Given the description of an element on the screen output the (x, y) to click on. 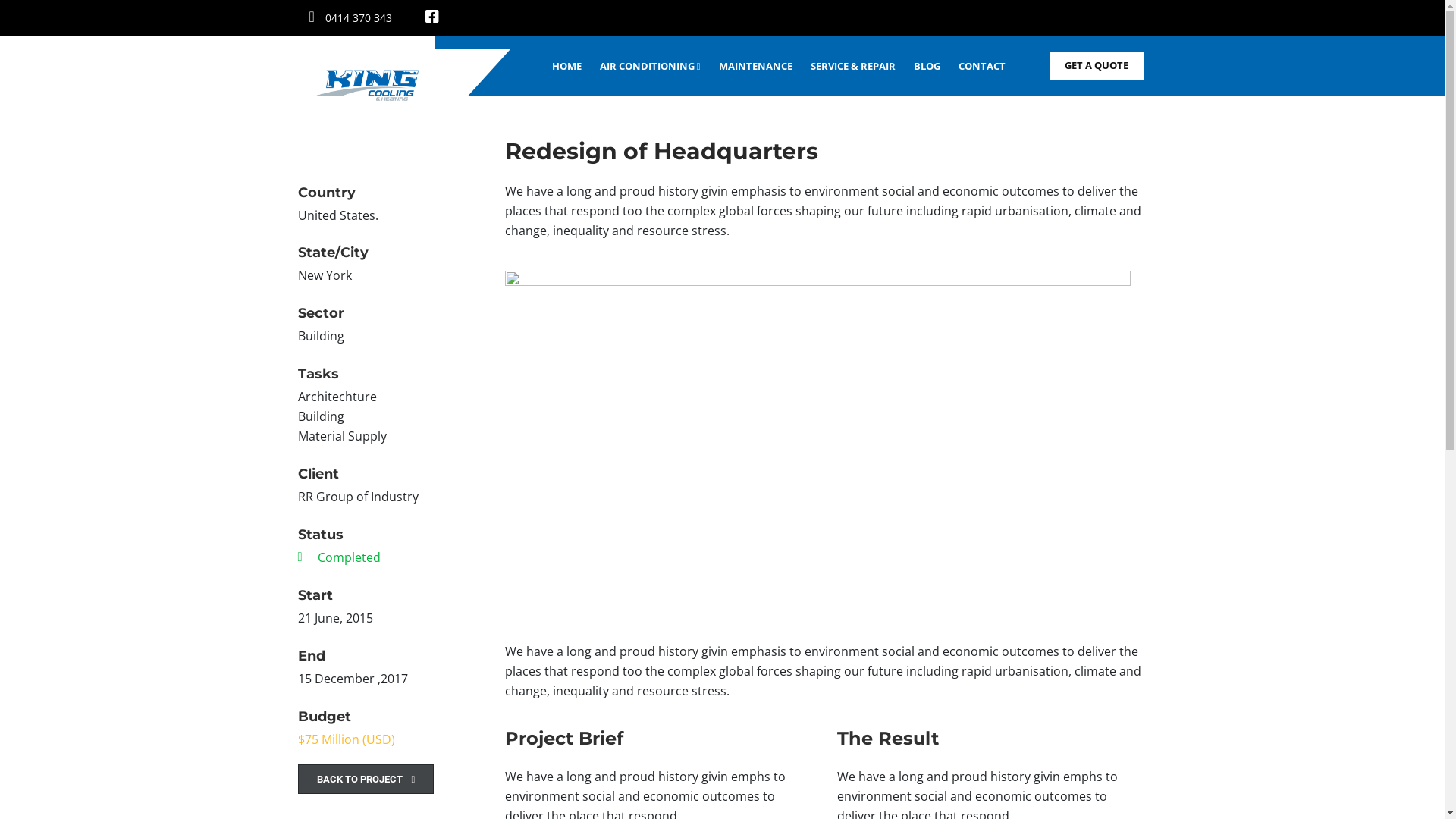
SERVICE & REPAIR Element type: text (856, 65)
CONTACT Element type: text (986, 65)
HOME Element type: text (571, 65)
BACK TO PROJECT Element type: text (365, 778)
BLOG Element type: text (930, 65)
MAINTENANCE Element type: text (760, 65)
AIR CONDITIONING Element type: text (654, 65)
GET A QUOTE Element type: text (1096, 65)
